Given the description of an element on the screen output the (x, y) to click on. 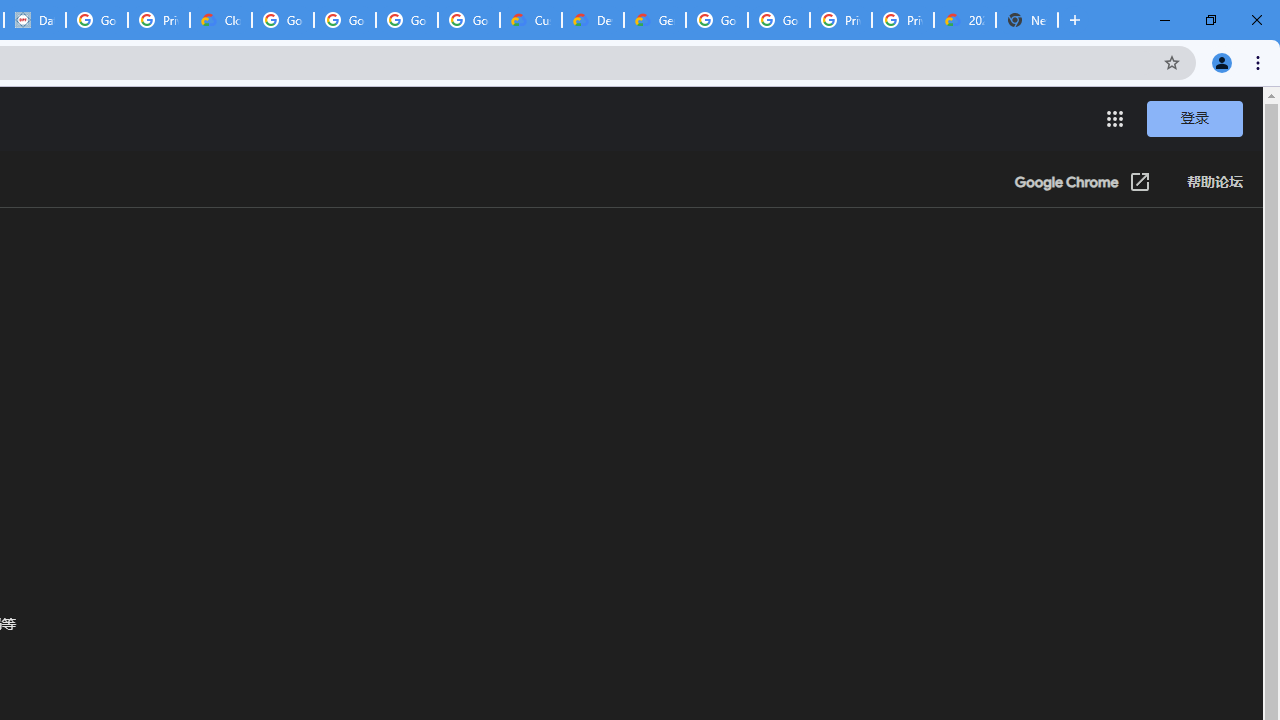
Cloud Data Processing Addendum | Google Cloud (220, 20)
Google Cloud Platform (778, 20)
New Tab (1026, 20)
Google Workspace - Specific Terms (468, 20)
